Given the description of an element on the screen output the (x, y) to click on. 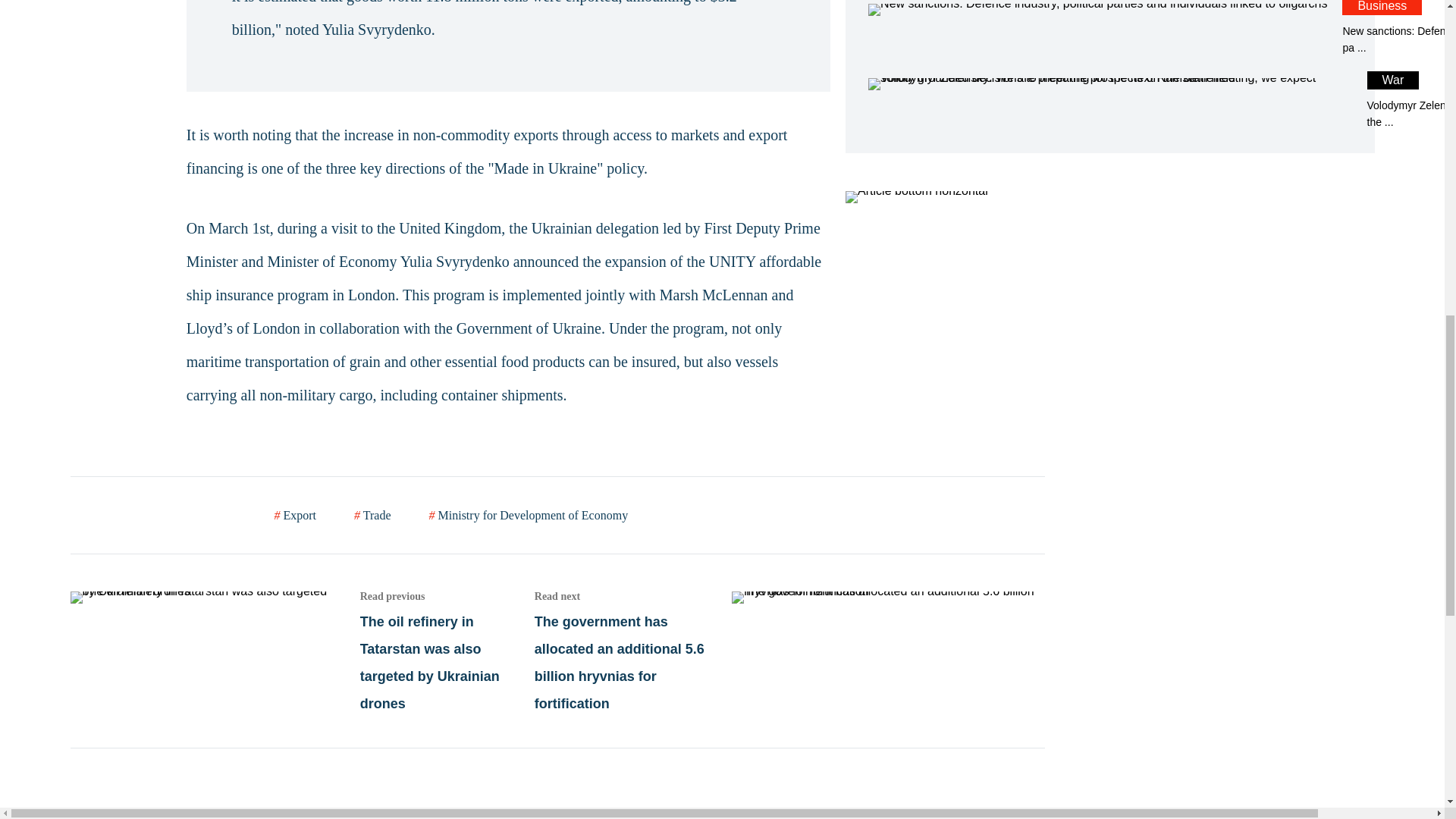
Read (789, 650)
Trade (371, 514)
Read (301, 650)
Ministry for Development of Economy (528, 514)
Read (1109, 28)
Export (296, 514)
